Given the description of an element on the screen output the (x, y) to click on. 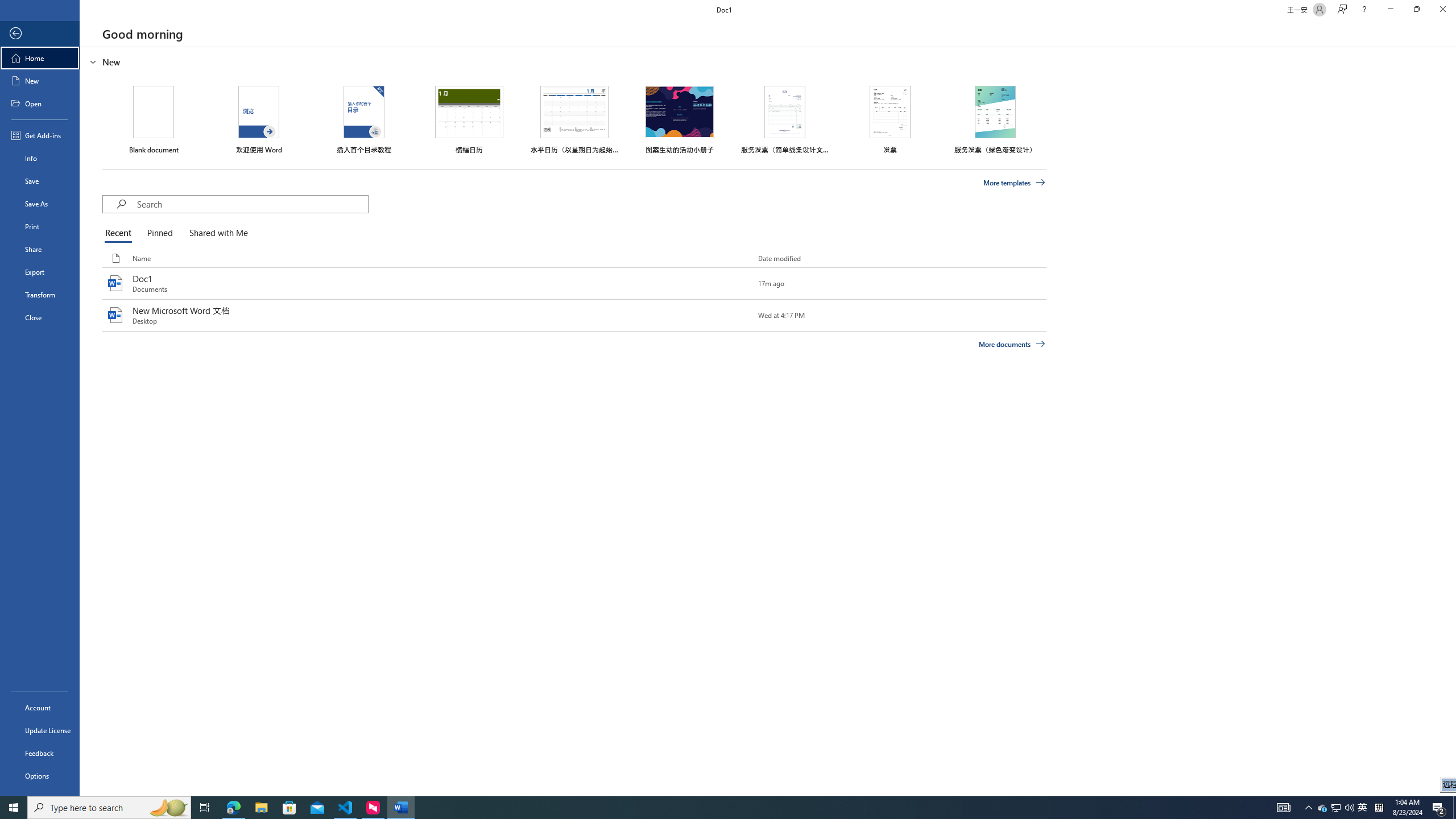
Export (40, 271)
Update License (40, 730)
Shared with Me (215, 233)
Doc1 (573, 283)
Transform (40, 294)
